Given the description of an element on the screen output the (x, y) to click on. 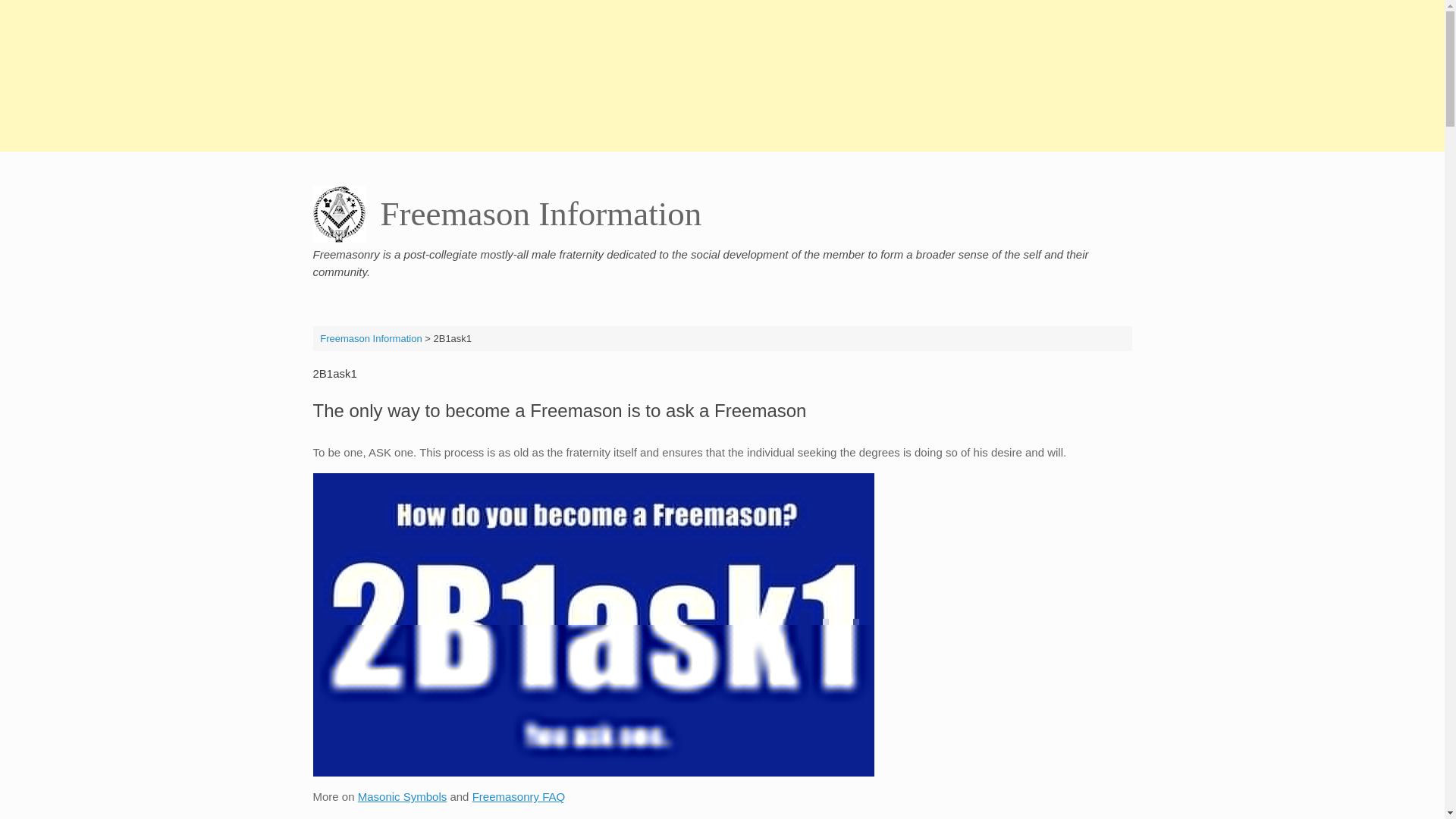
Masonic Symbols (402, 796)
Freemason Information (371, 337)
Freemason Information (507, 213)
Freemason Information (507, 213)
Freemasonry FAQ (518, 796)
Go to Freemason Information. (371, 337)
